Given the description of an element on the screen output the (x, y) to click on. 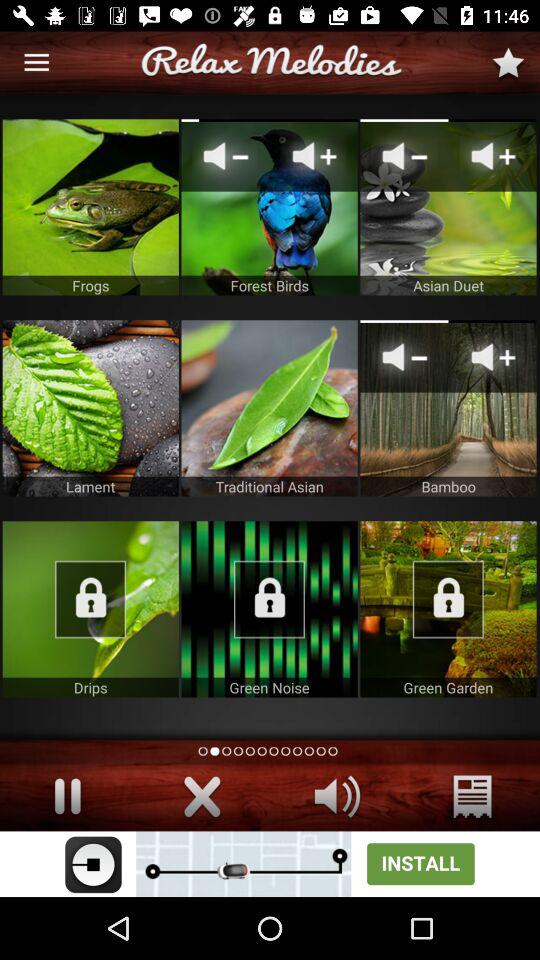
leaf image (90, 408)
